Given the description of an element on the screen output the (x, y) to click on. 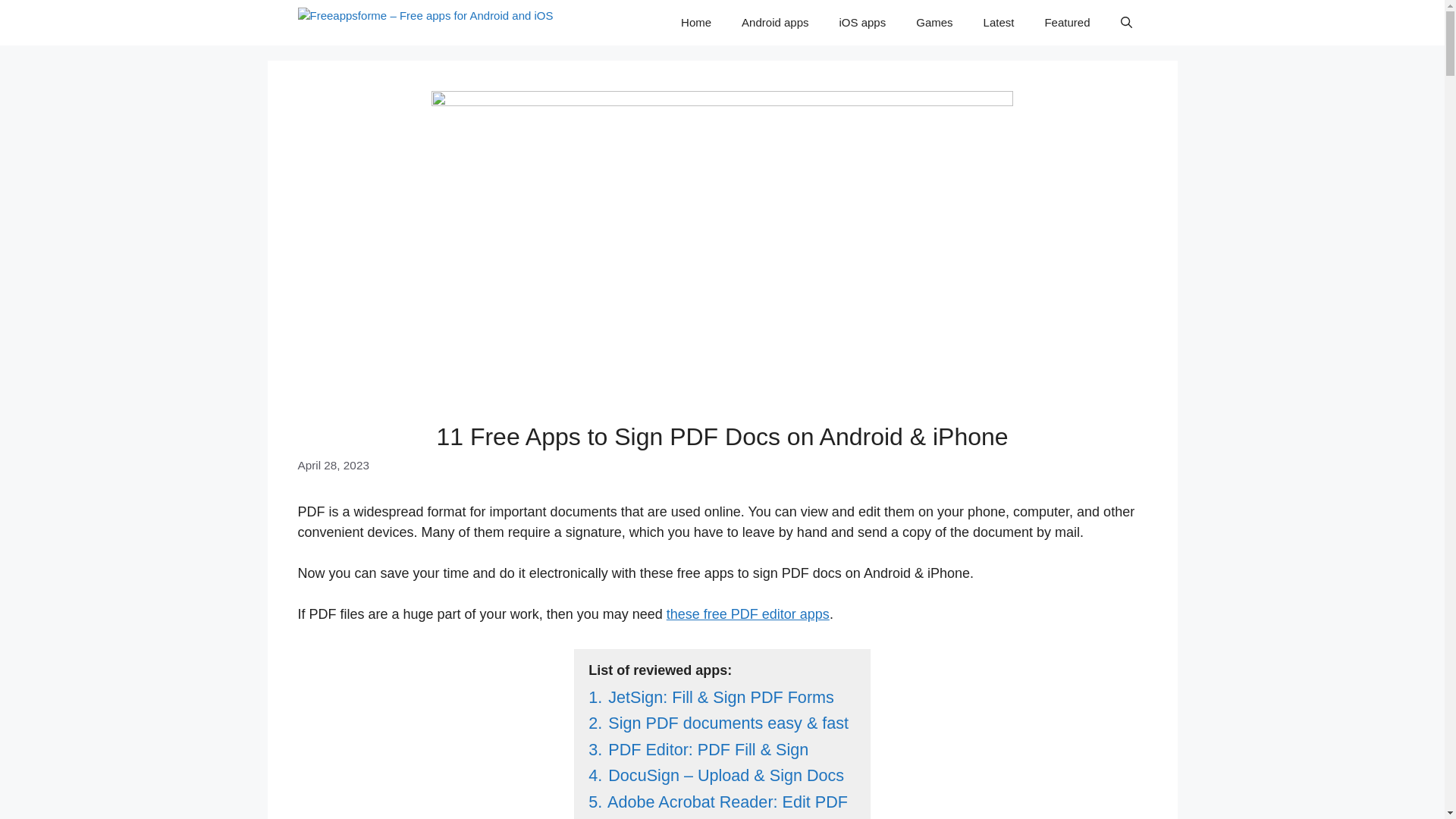
Latest (998, 22)
iOS apps (862, 22)
these free PDF editor apps (747, 613)
Featured (1067, 22)
Games (934, 22)
Home (695, 22)
5. Adobe Acrobat Reader: Edit PDF (717, 801)
Android apps (775, 22)
